Given the description of an element on the screen output the (x, y) to click on. 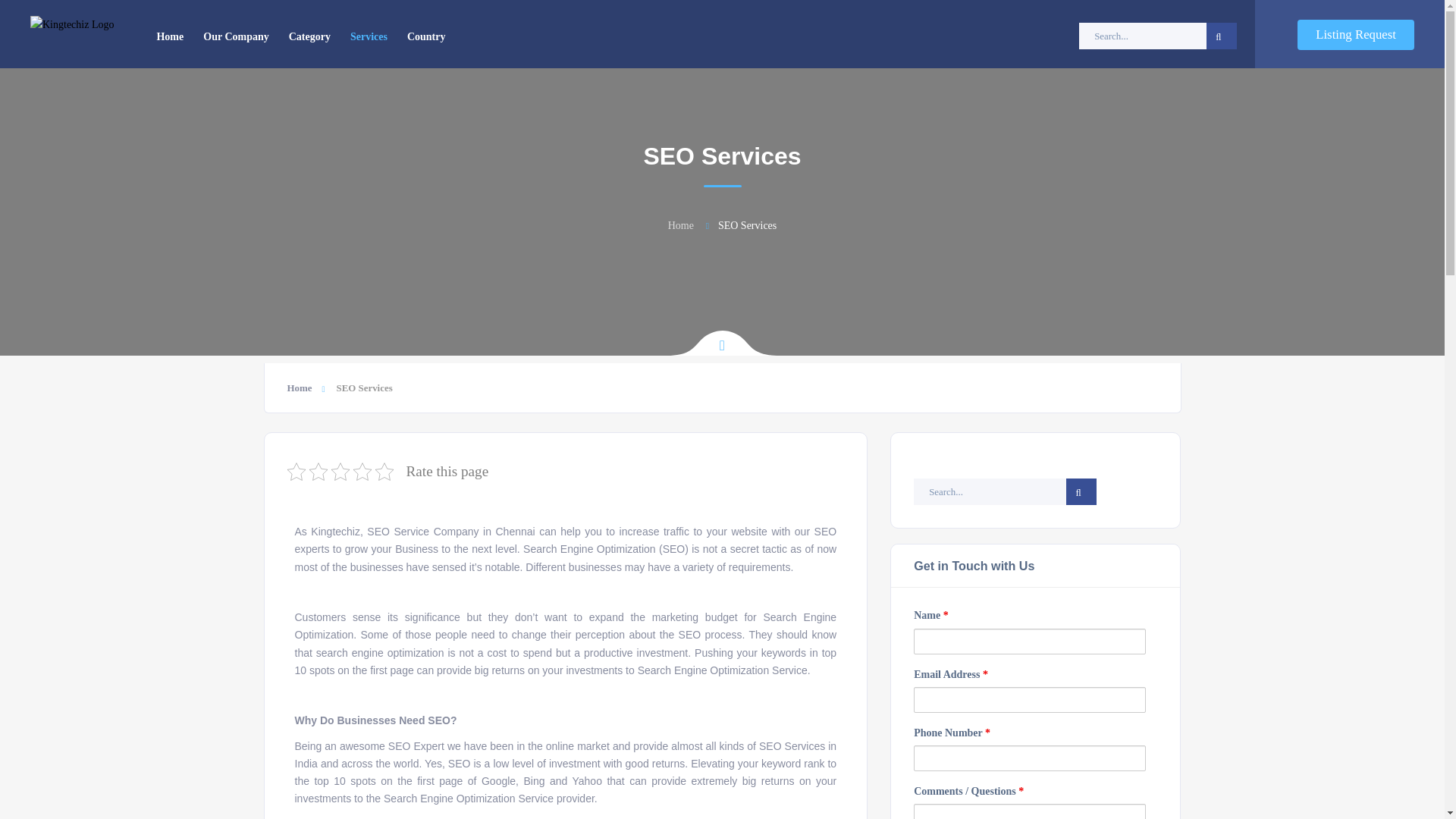
SEO Services (363, 387)
Home (169, 36)
Home (681, 225)
Services (368, 36)
SEO Services (747, 225)
Category (309, 36)
Home (304, 387)
Listing Request (1355, 34)
Our Company (235, 36)
